Given the description of an element on the screen output the (x, y) to click on. 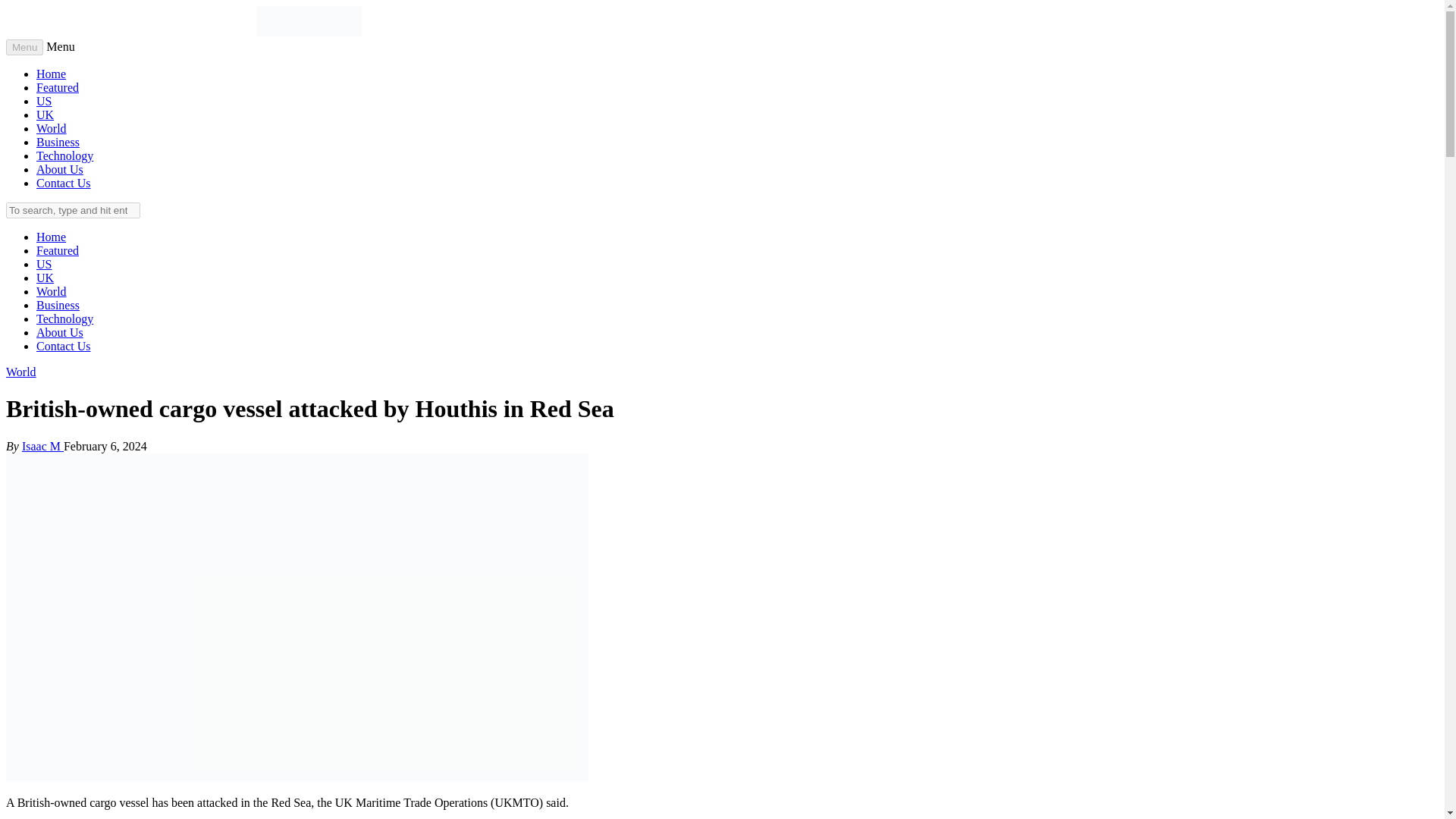
Isaac M (42, 445)
Contact Us (63, 345)
About Us (59, 332)
Home (50, 236)
US (43, 101)
Business (58, 141)
Monday Newspaper (308, 31)
Technology (64, 318)
Business (58, 305)
About Us (59, 169)
